Given the description of an element on the screen output the (x, y) to click on. 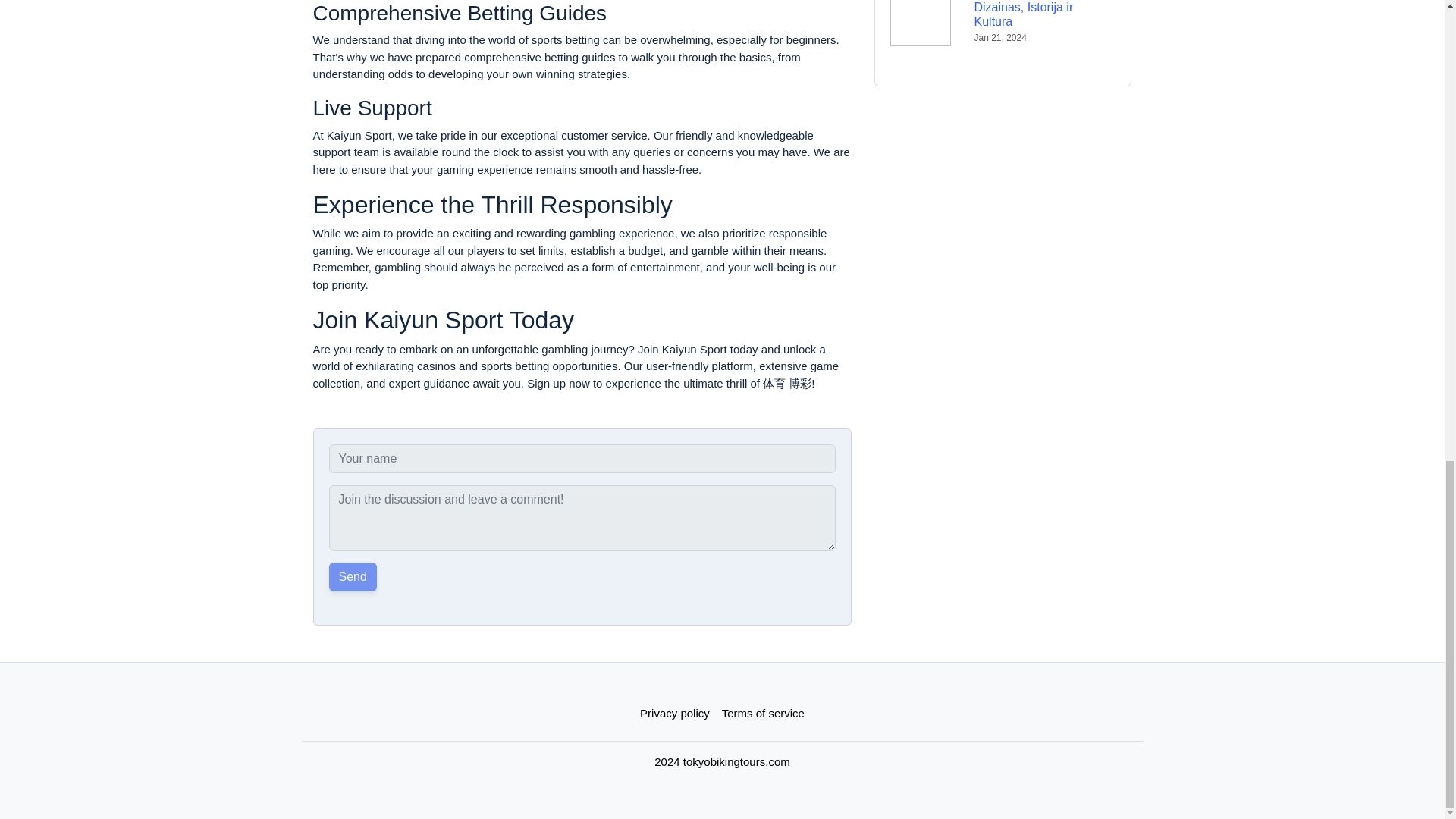
Terms of service (763, 713)
Send (353, 576)
Send (353, 576)
Privacy policy (674, 713)
